Given the description of an element on the screen output the (x, y) to click on. 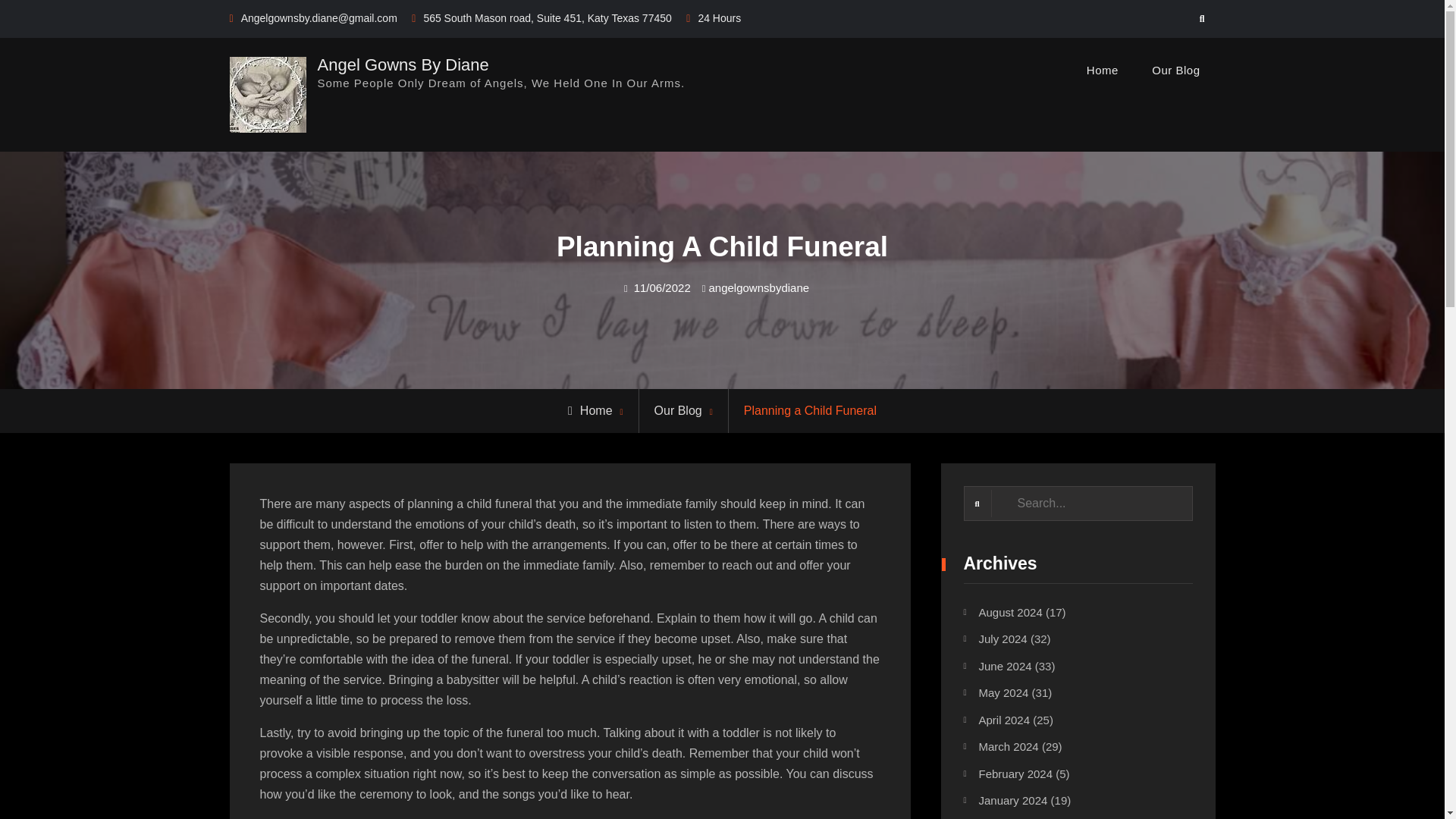
June 2024 (1004, 666)
August 2024 (1010, 612)
Home (589, 410)
Our Blog (677, 410)
April 2024 (1003, 719)
January 2024 (1012, 799)
Home (1102, 69)
angelgownsbydiane (758, 287)
Search (1202, 18)
July 2024 (1002, 638)
